Given the description of an element on the screen output the (x, y) to click on. 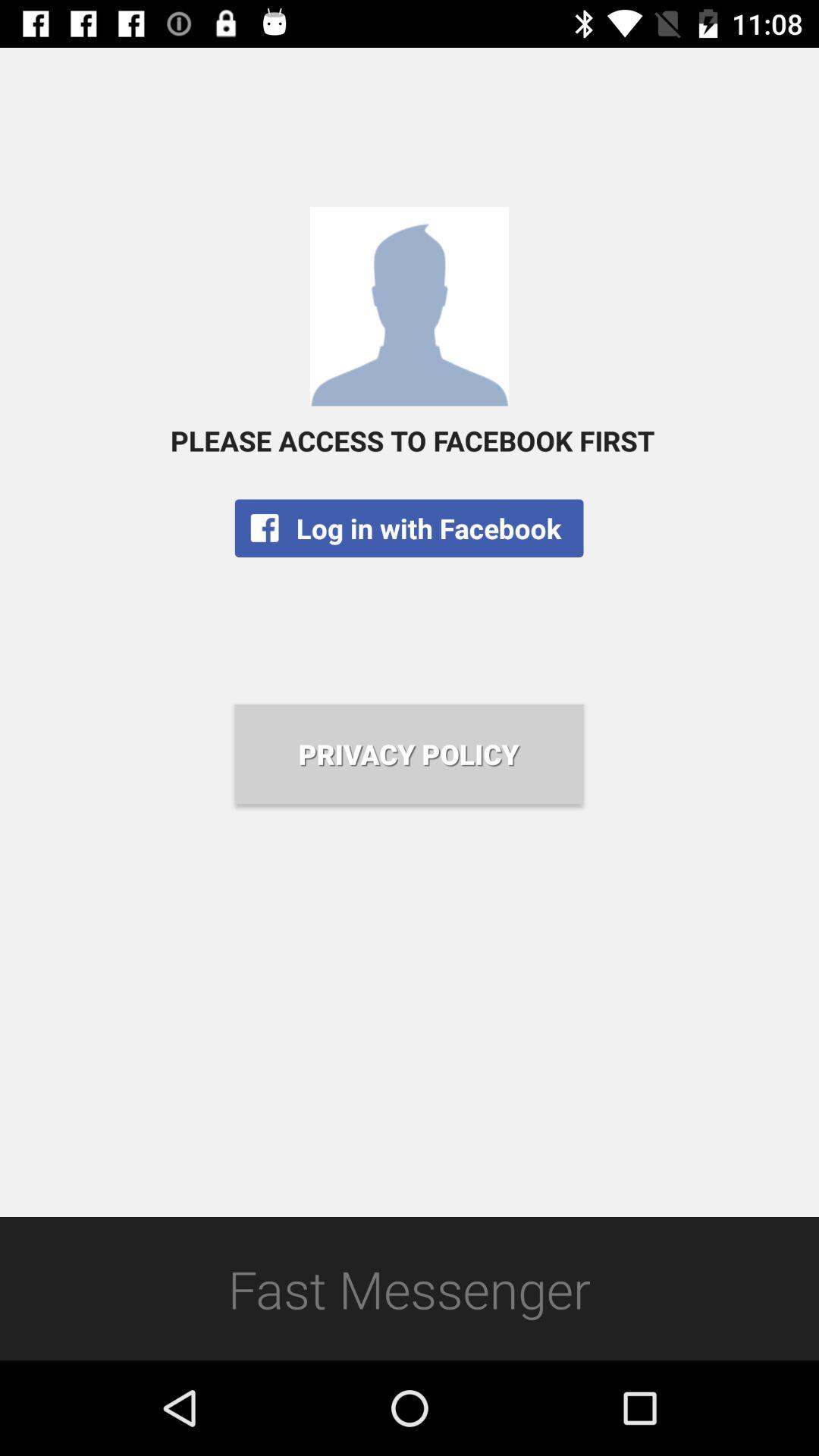
flip to the fast messenger item (409, 1288)
